Given the description of an element on the screen output the (x, y) to click on. 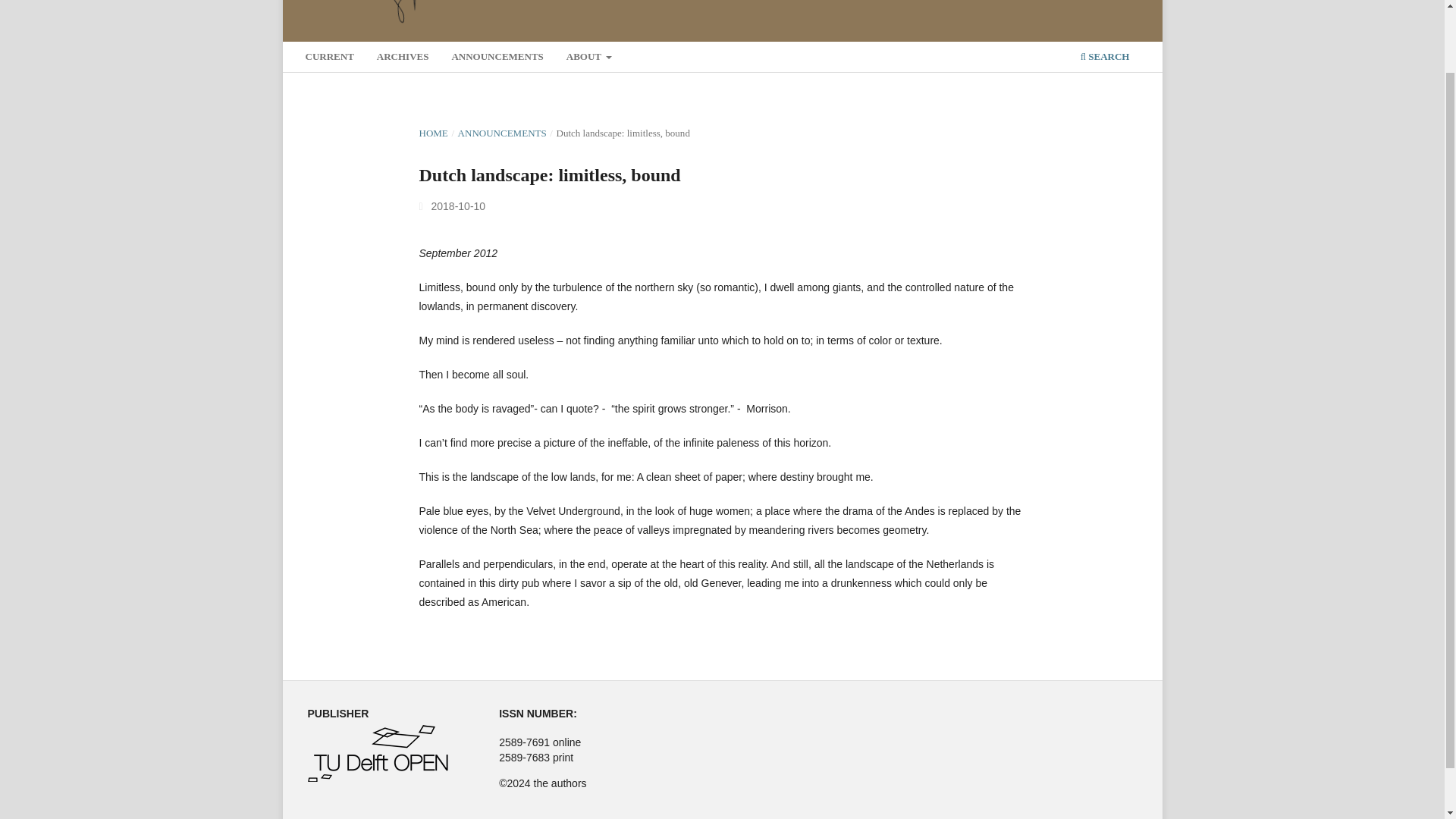
HOME (432, 133)
SEARCH (1104, 58)
ARCHIVES (402, 58)
ABOUT (588, 58)
ANNOUNCEMENTS (502, 133)
ANNOUNCEMENTS (497, 58)
CURRENT (328, 58)
